Given the description of an element on the screen output the (x, y) to click on. 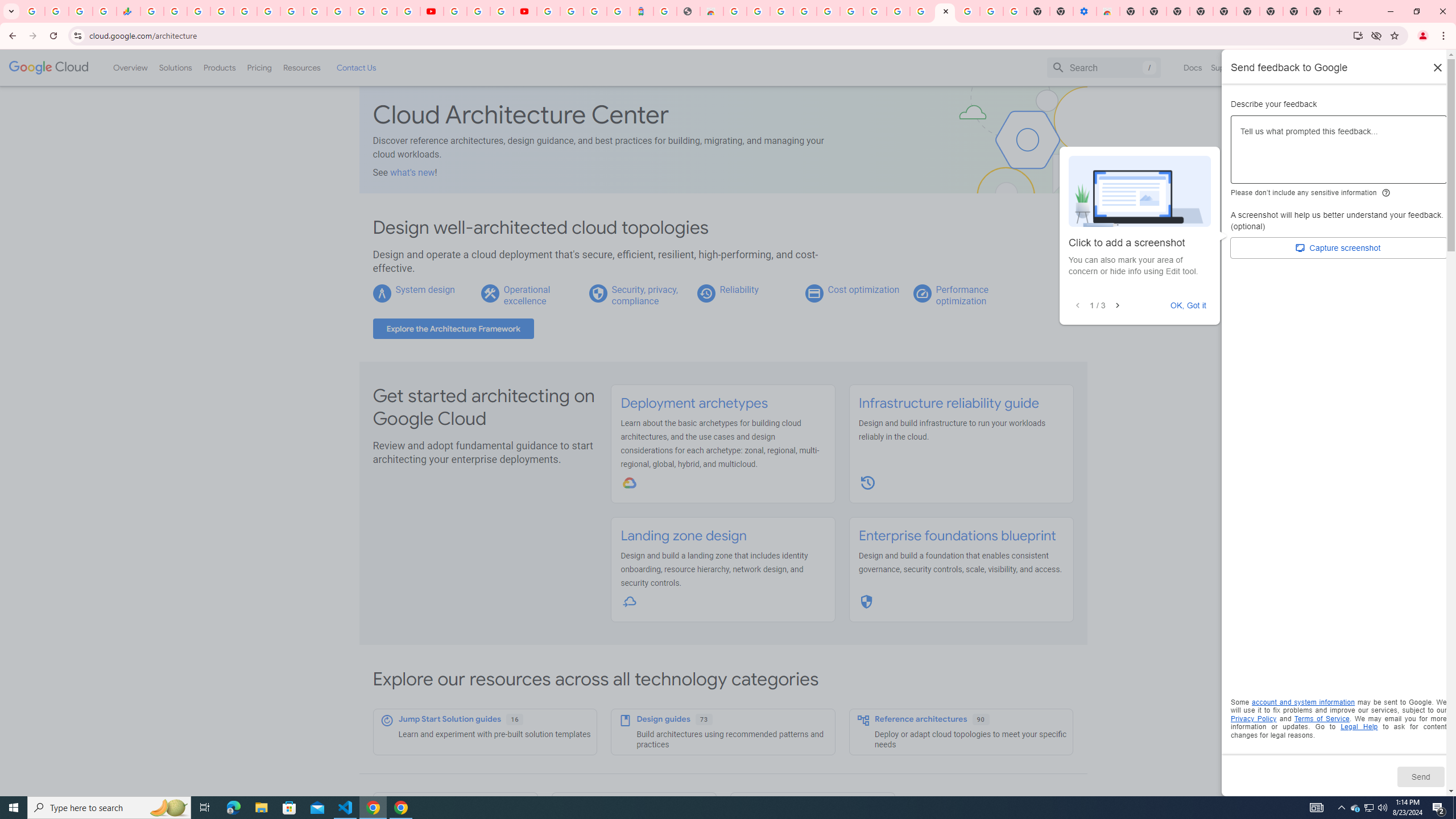
Google Cloud (48, 67)
Capture screenshot (1338, 247)
Describe your feedback (1338, 153)
Opens in a new tab. Privacy Policy (1253, 718)
Reliability (738, 289)
Cost optimization (863, 289)
Chrome Web Store - Accessibility extensions (1108, 11)
OK, Got it (1188, 305)
Pricing (259, 67)
